Given the description of an element on the screen output the (x, y) to click on. 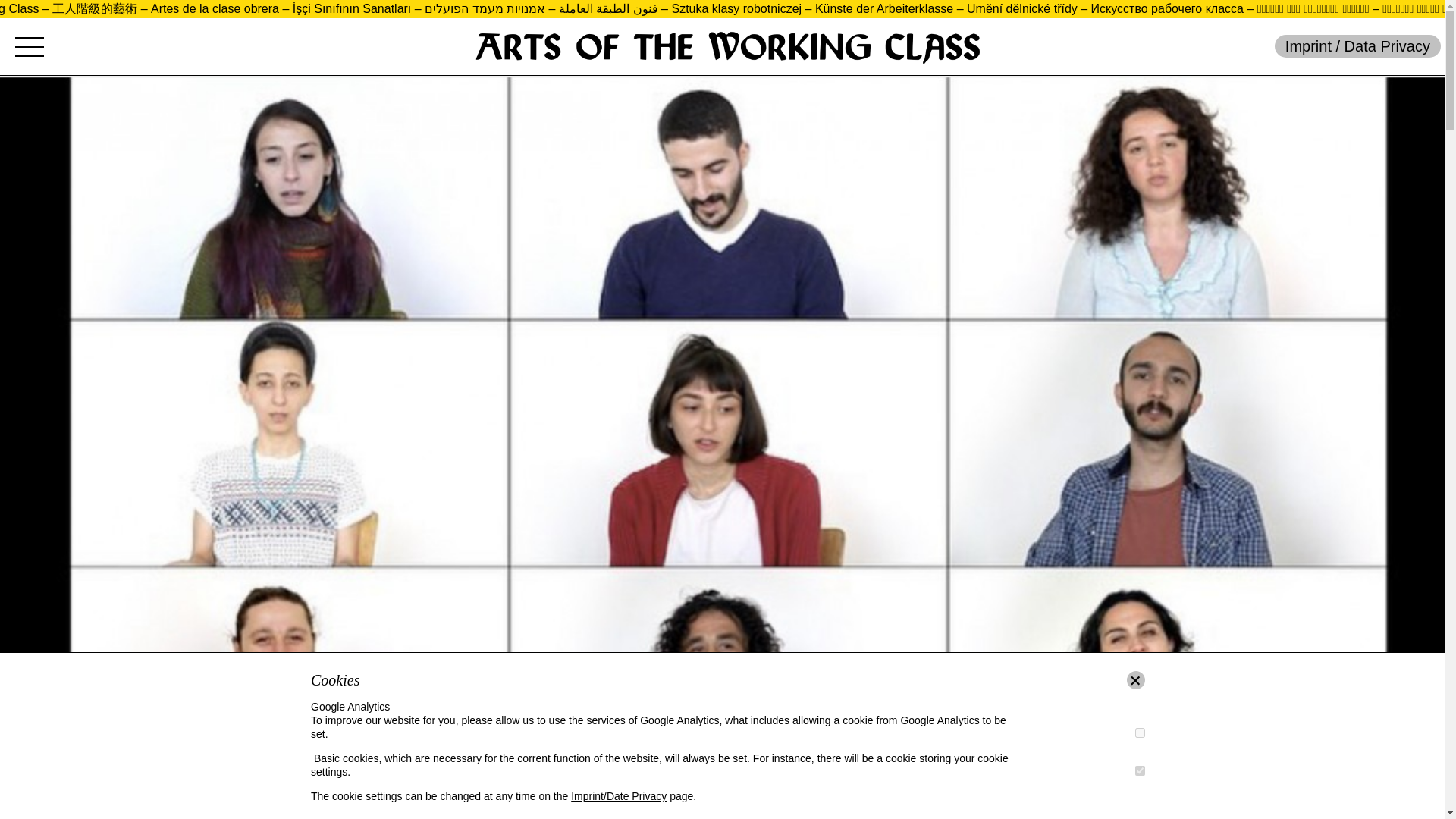
yes (1139, 770)
yes (1139, 732)
